Given the description of an element on the screen output the (x, y) to click on. 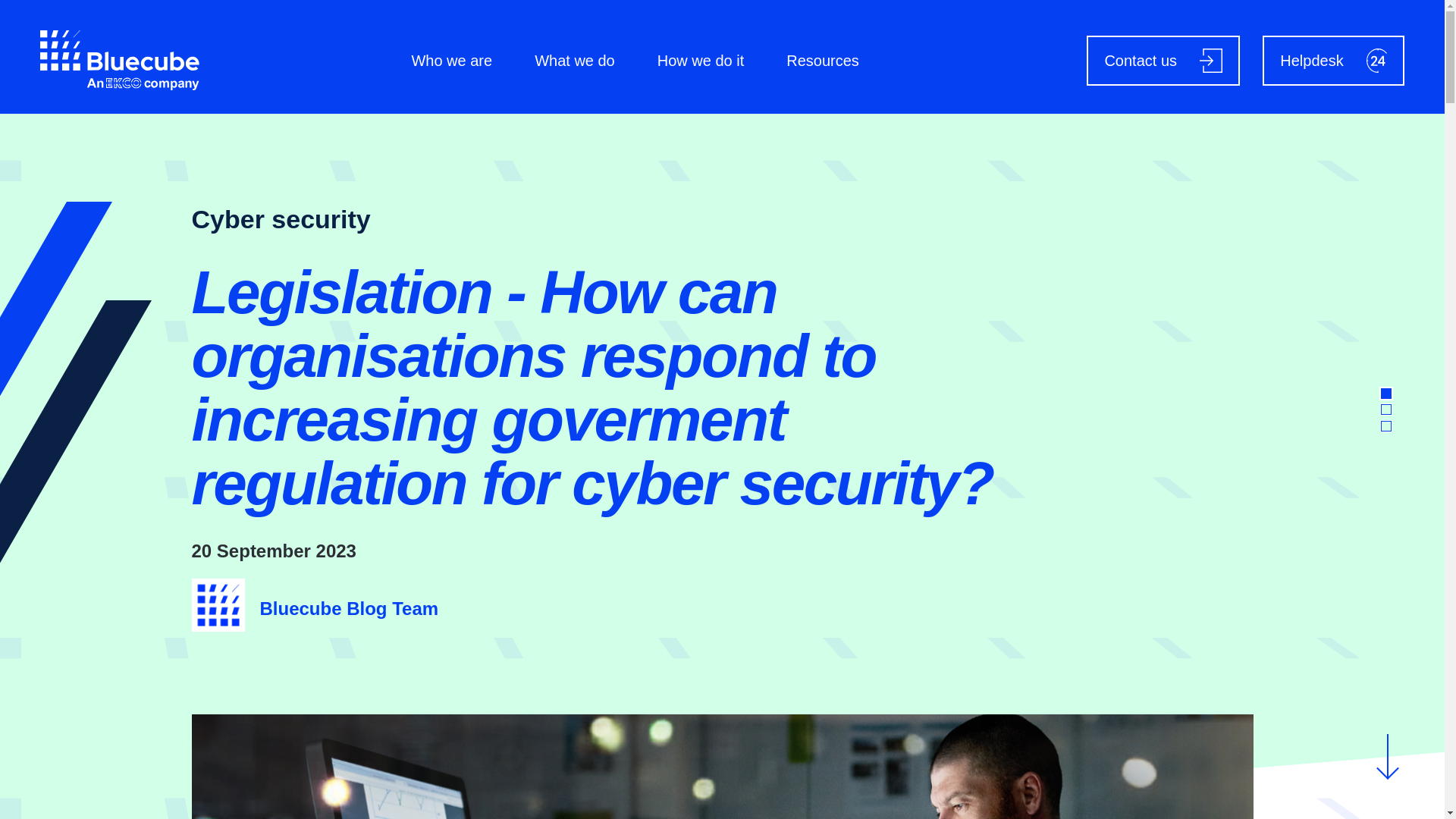
Go to section (1385, 409)
Go to section (1385, 425)
Go to section (1385, 393)
What we do (574, 60)
Who we are (451, 60)
